Given the description of an element on the screen output the (x, y) to click on. 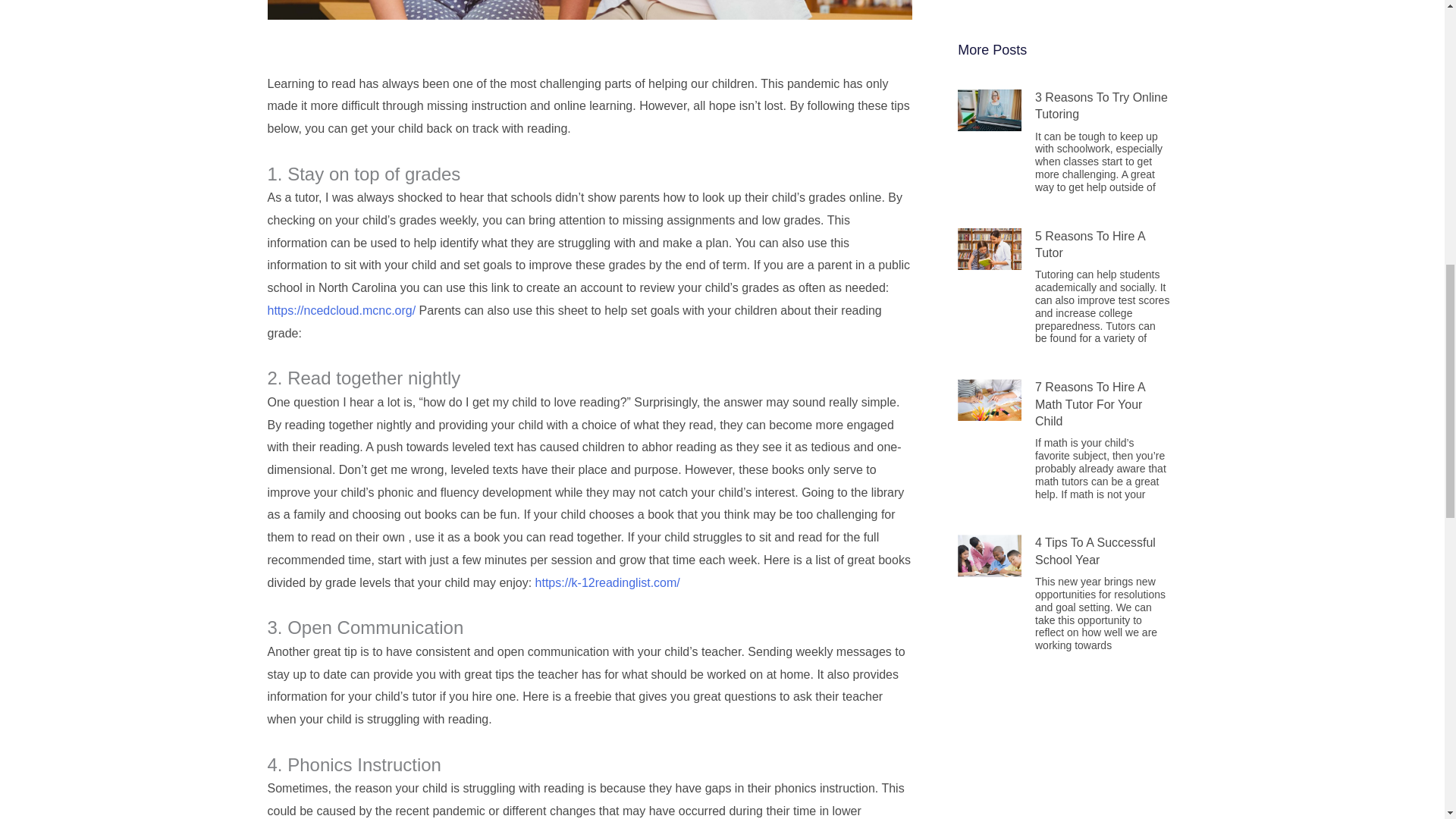
7 Reasons To Hire A Math Tutor For Your Child (1089, 403)
3 Reasons To Try Online Tutoring (1101, 105)
4 Tips To A Successful School Year (1095, 550)
5 Reasons To Hire A Tutor (1089, 244)
